Given the description of an element on the screen output the (x, y) to click on. 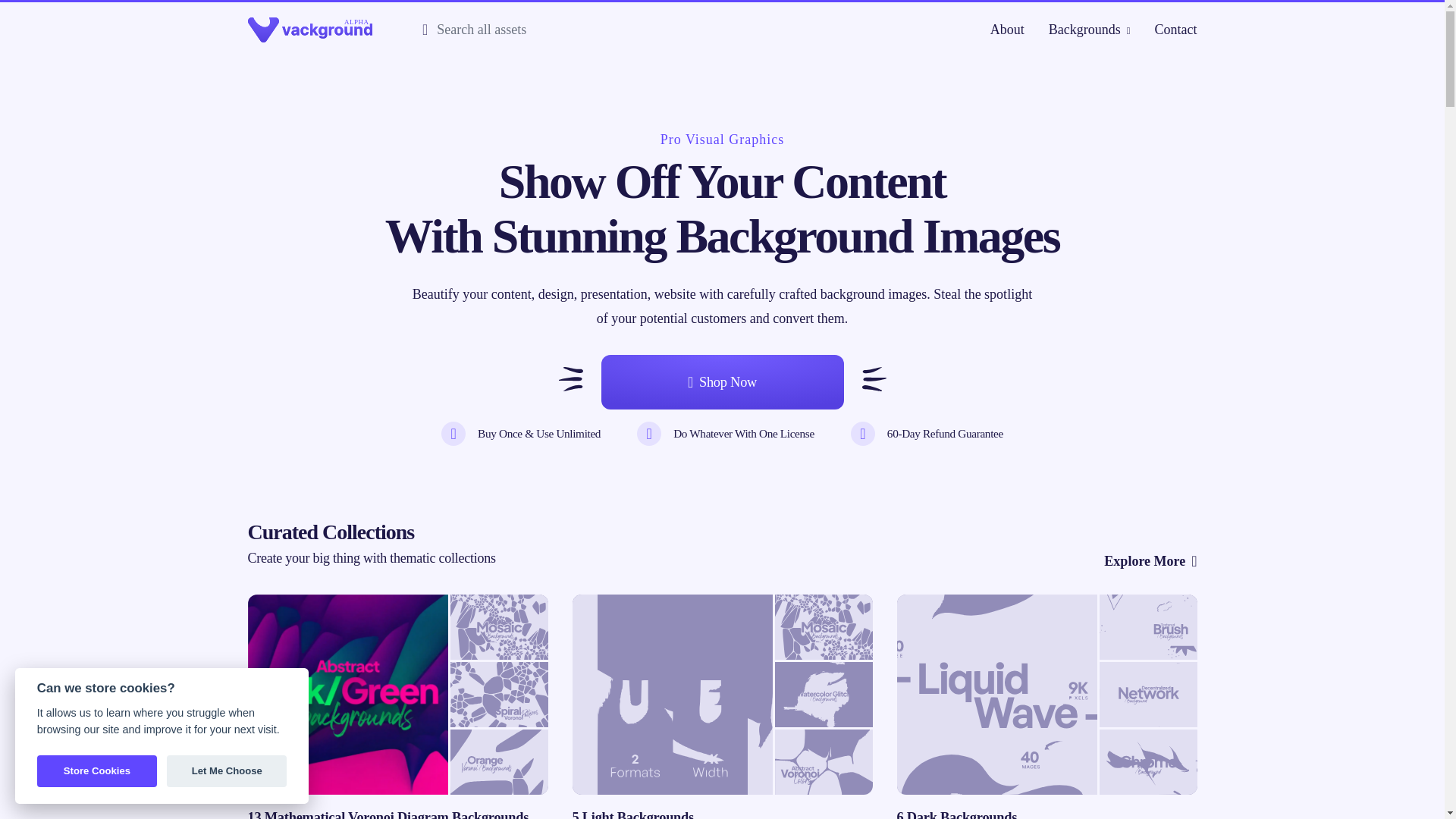
Backgrounds (1089, 29)
5 Light Backgrounds (722, 706)
Contact (1175, 29)
About (1007, 29)
13 Mathematical Voronoi Diagram Backgrounds (397, 706)
Shop Now (721, 381)
Explore More (1149, 561)
ALPHA (309, 29)
6 Dark Backgrounds (1046, 706)
